Given the description of an element on the screen output the (x, y) to click on. 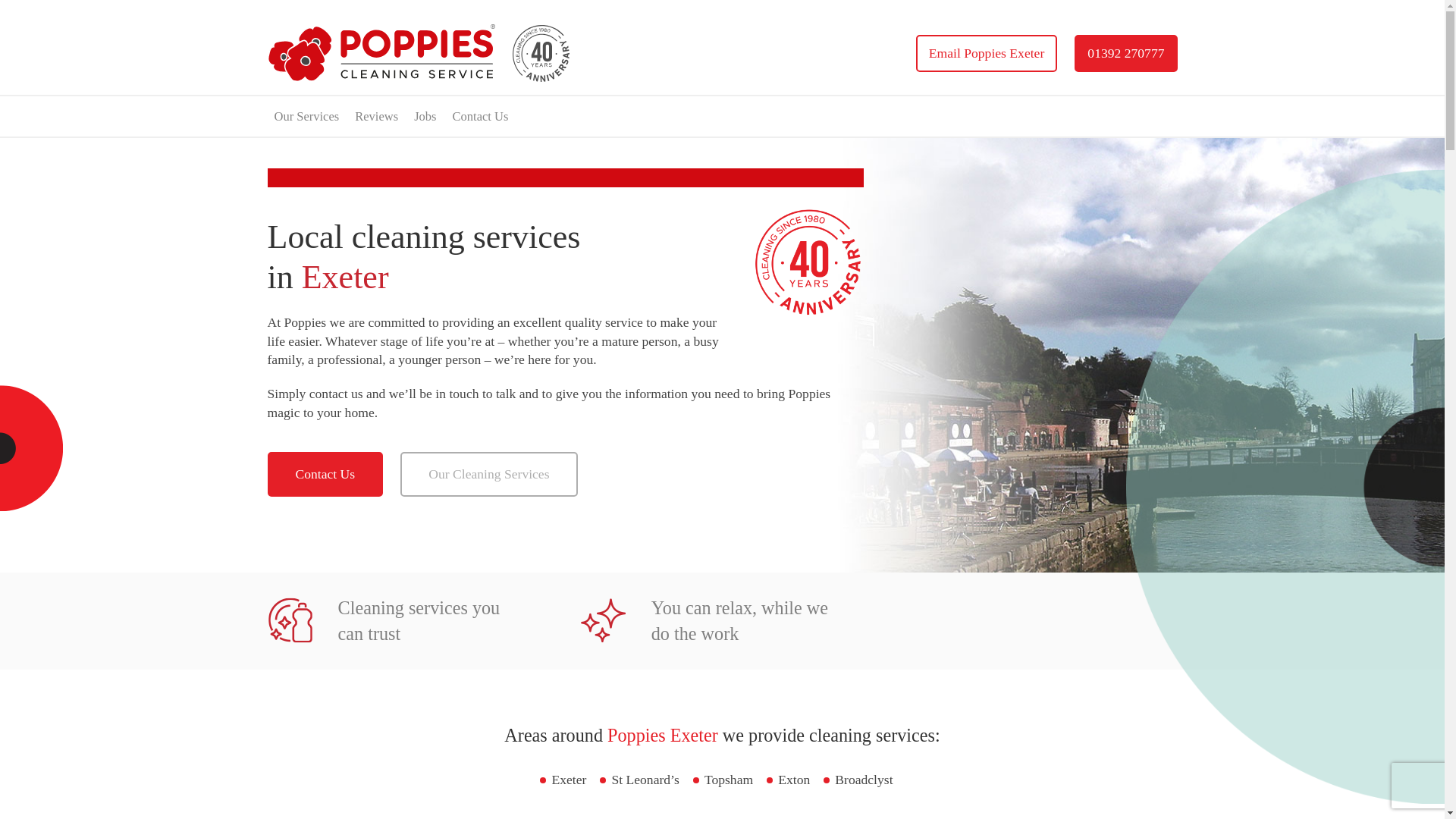
Contact Us (480, 116)
Email Poppies Exeter (986, 53)
Our Cleaning Services (488, 474)
01392 270777 (1125, 53)
Contact Us (324, 474)
Reviews (375, 116)
Our Services (306, 116)
